Given the description of an element on the screen output the (x, y) to click on. 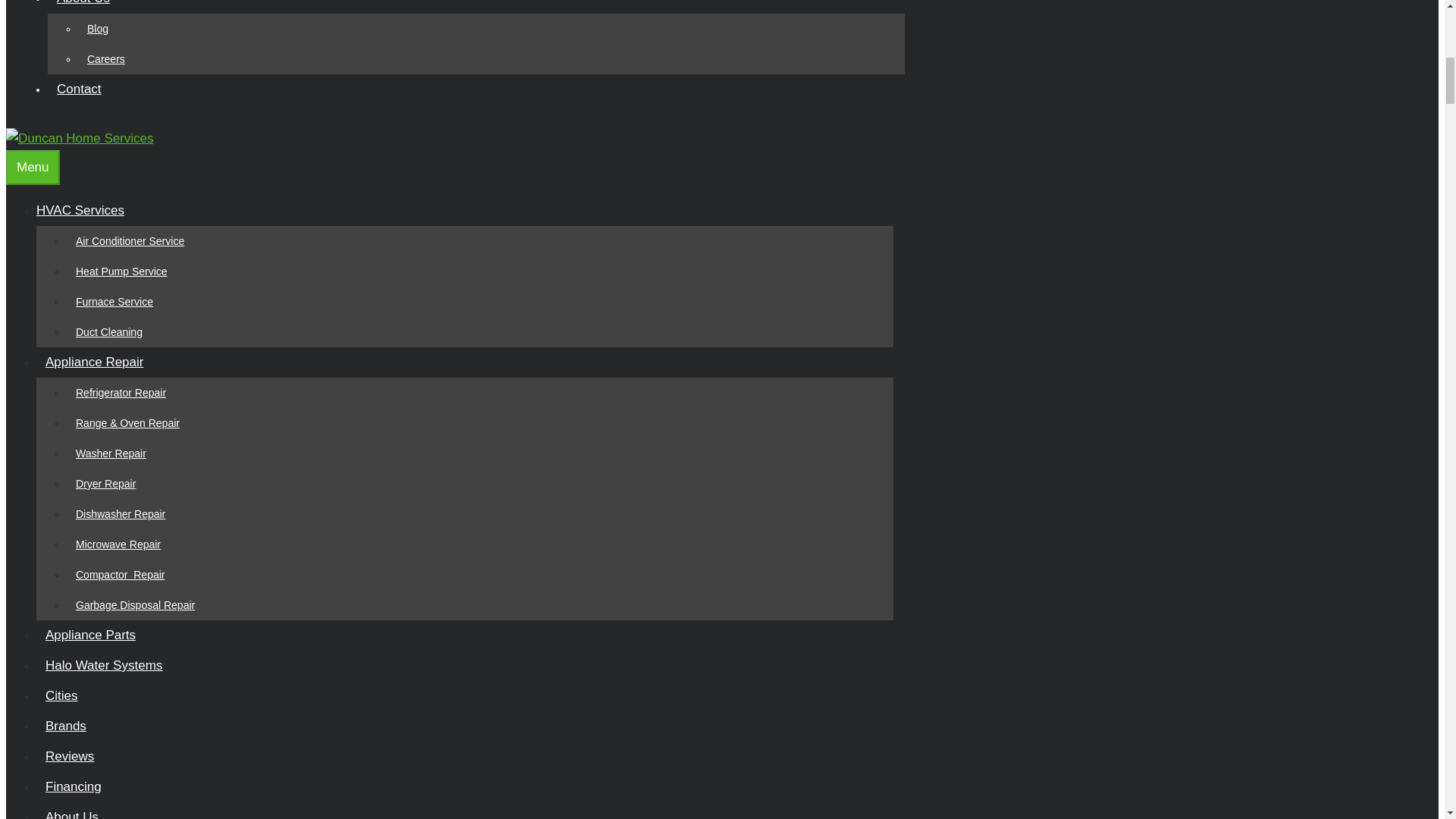
Air Conditioner Service (129, 240)
Furnace Service (113, 301)
Duncan Home Services (79, 138)
HVAC Services (89, 210)
Blog (97, 28)
Menu (32, 167)
Contact (79, 88)
Refrigerator Repair (120, 392)
Careers (105, 58)
About Us (88, 2)
Duct Cleaning (108, 331)
Appliance Repair (98, 361)
Heat Pump Service (121, 271)
